Given the description of an element on the screen output the (x, y) to click on. 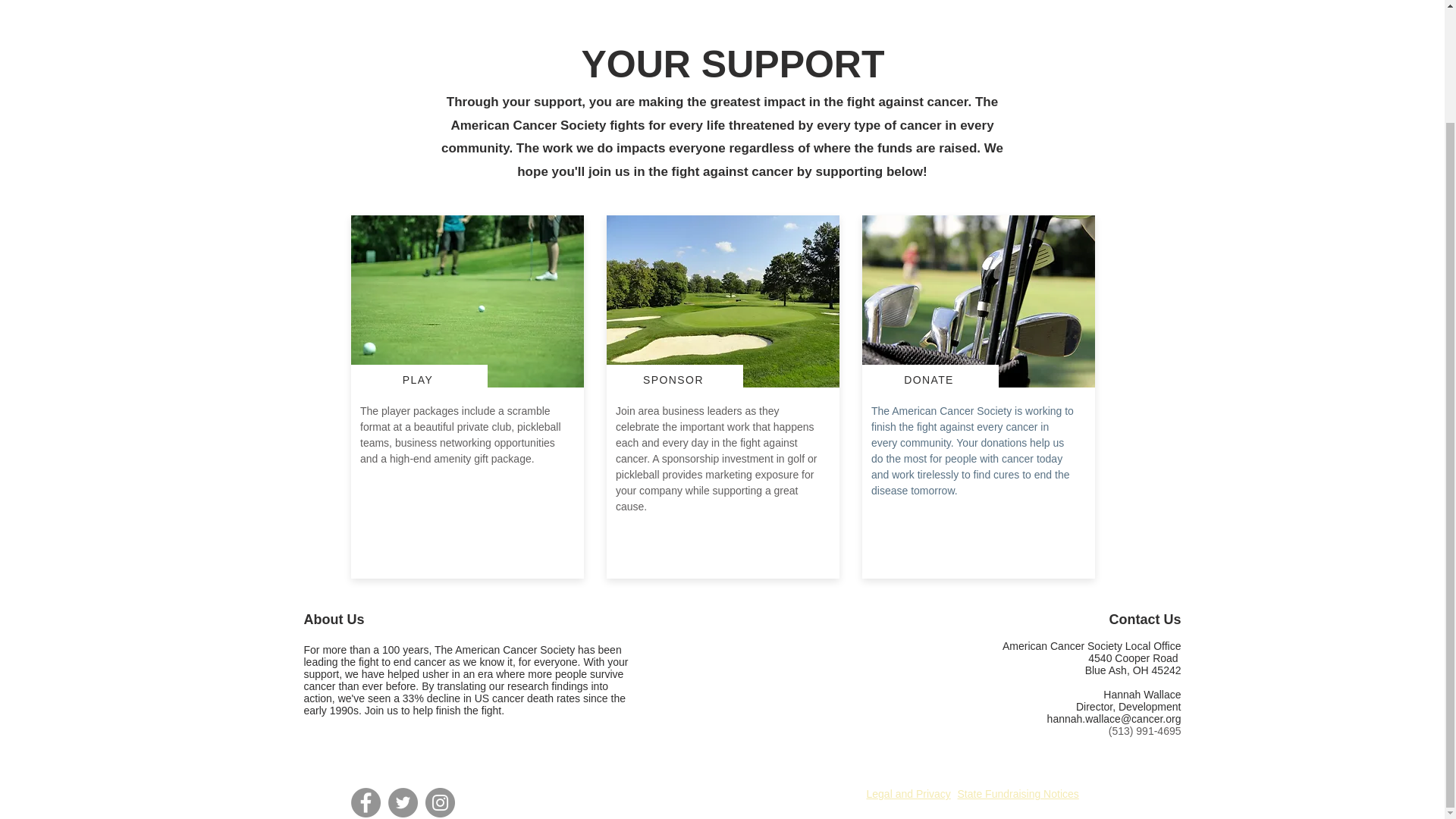
State Fundraising Notices (1017, 793)
SPONSOR (674, 379)
PLAY (418, 379)
DONATE (929, 379)
